Given the description of an element on the screen output the (x, y) to click on. 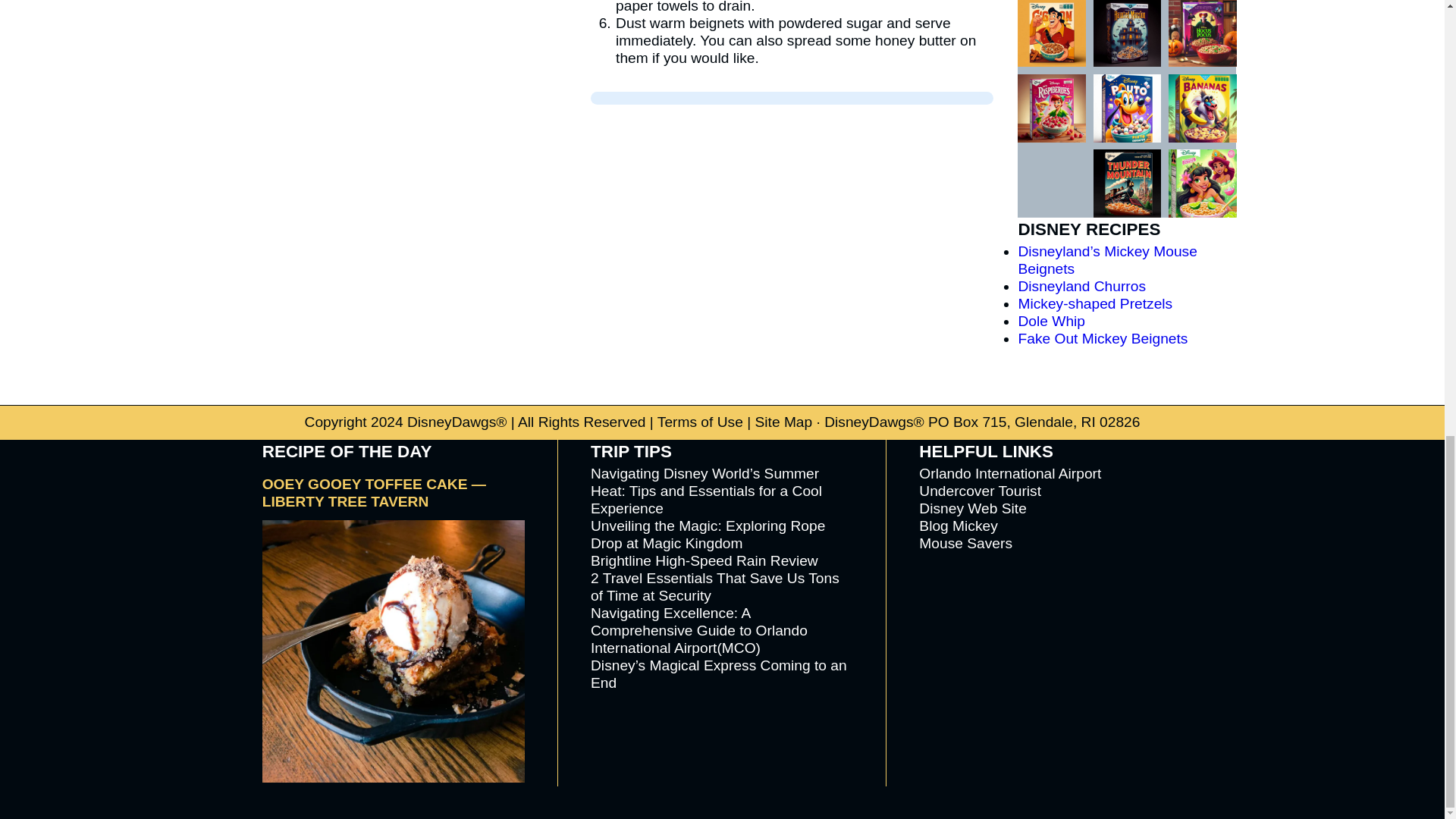
Terms of Use (700, 421)
Mickey-shaped Pretzels (1094, 303)
Orlando International Airport (1009, 473)
Disneyland Churros (1081, 286)
Site Map (783, 421)
Unveiling the Magic: Exploring Rope Drop at Magic Kingdom (708, 534)
Dole Whip (1050, 320)
Brightline High-Speed Rain Review (704, 560)
2 Travel Essentials That Save Us Tons of Time at Security (715, 586)
Fake Out Mickey Beignets (1102, 338)
